Given the description of an element on the screen output the (x, y) to click on. 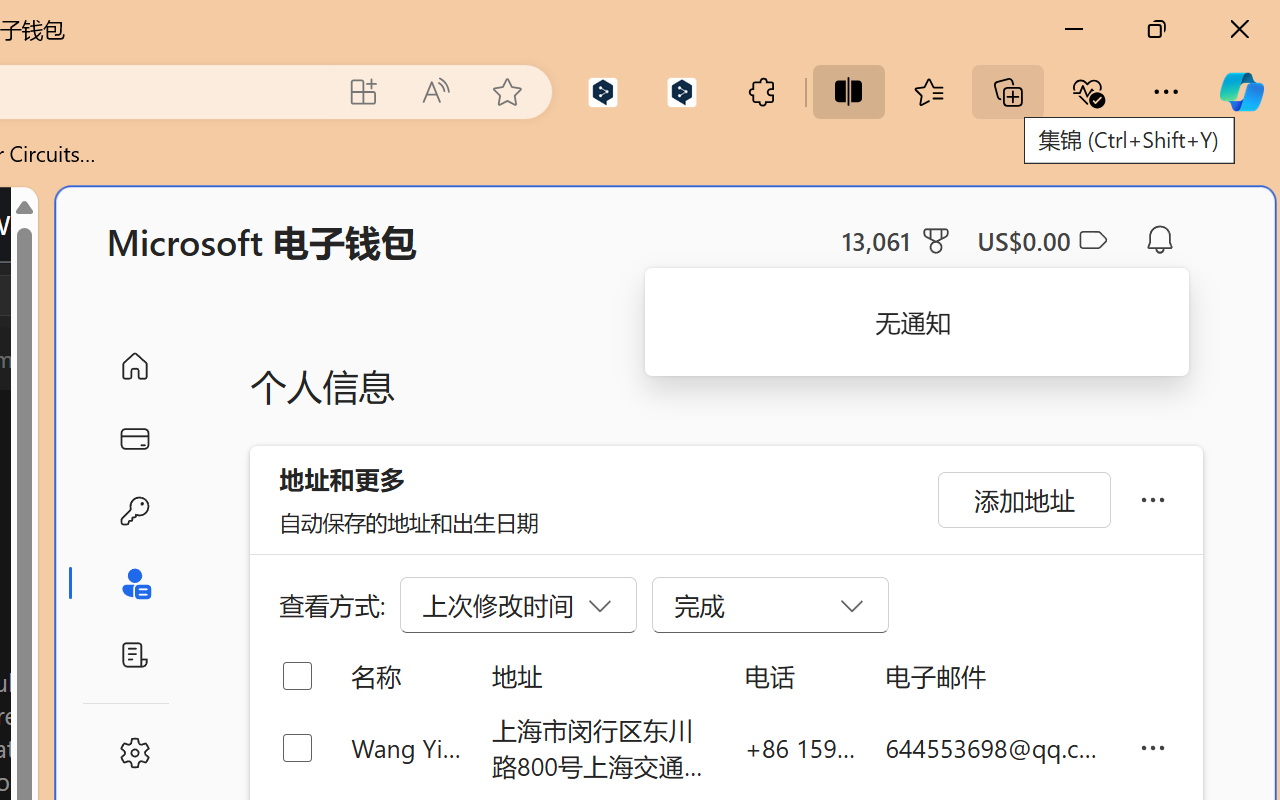
Class: ___1lmltc5 f1agt3bx f12qytpq (1092, 241)
+86 159 0032 4640 (799, 747)
644553698@qq.com (996, 747)
